Given the description of an element on the screen output the (x, y) to click on. 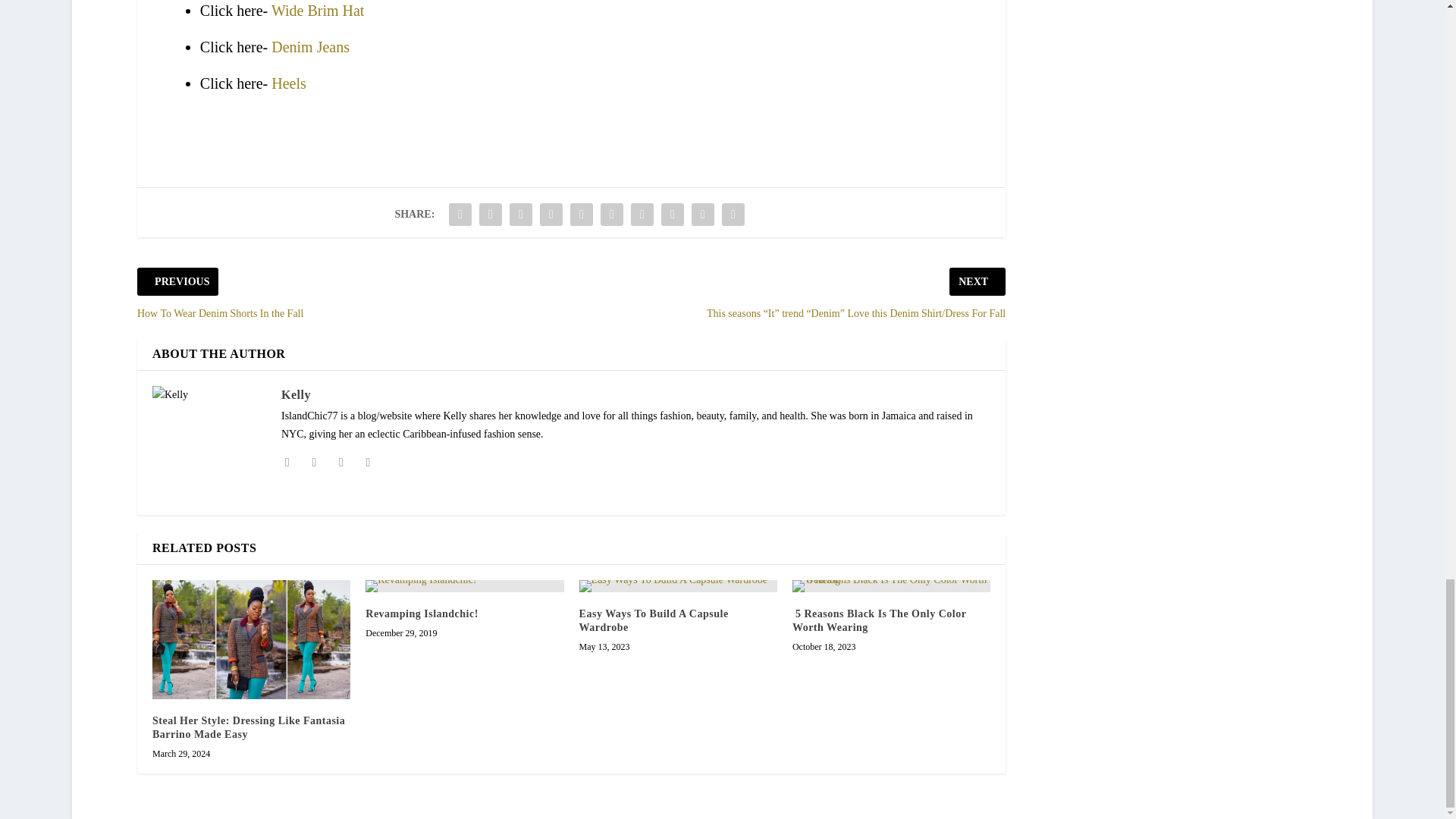
Wide Brim Hat (317, 10)
Heels (287, 83)
Heels (287, 83)
Denim Jeans (309, 46)
Wide Brim Hat (317, 10)
Denim Jeans (309, 46)
